Given the description of an element on the screen output the (x, y) to click on. 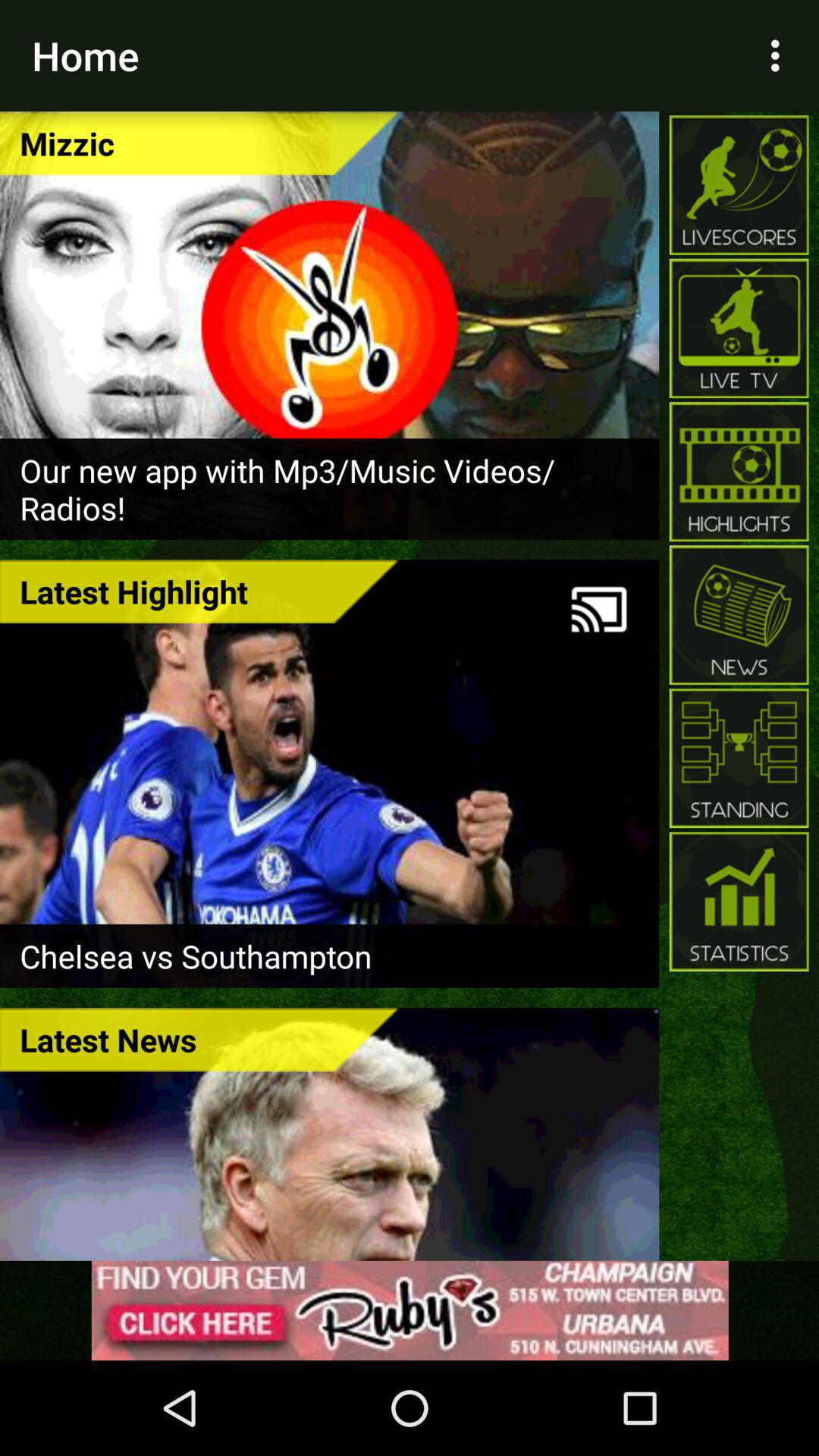
advertisement (409, 1310)
